Given the description of an element on the screen output the (x, y) to click on. 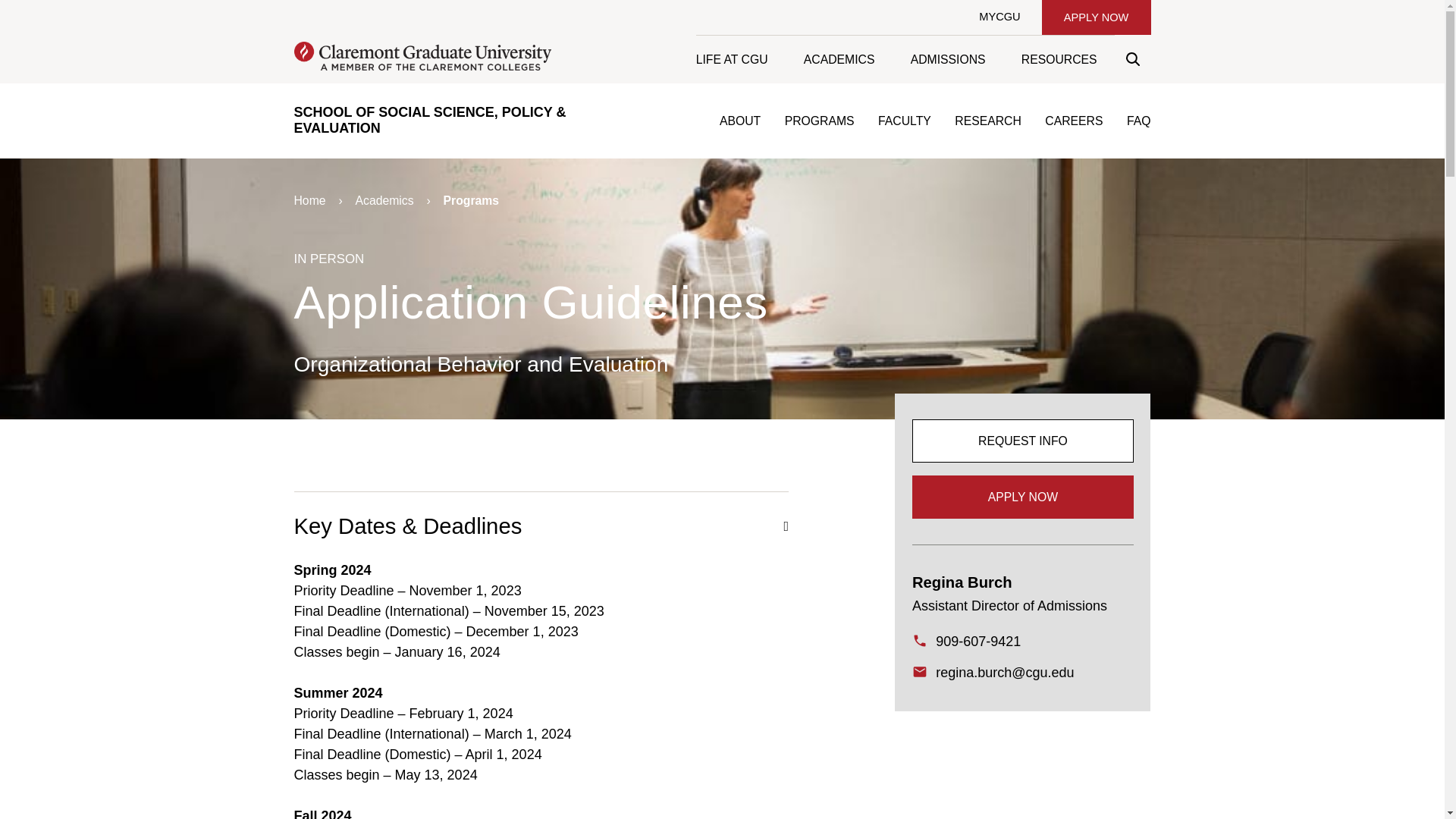
MYCGU (1000, 16)
LIFE AT CGU (740, 59)
ADMISSIONS (947, 59)
ACADEMICS (839, 59)
APPLY NOW (1096, 17)
open search field (1132, 58)
